Given the description of an element on the screen output the (x, y) to click on. 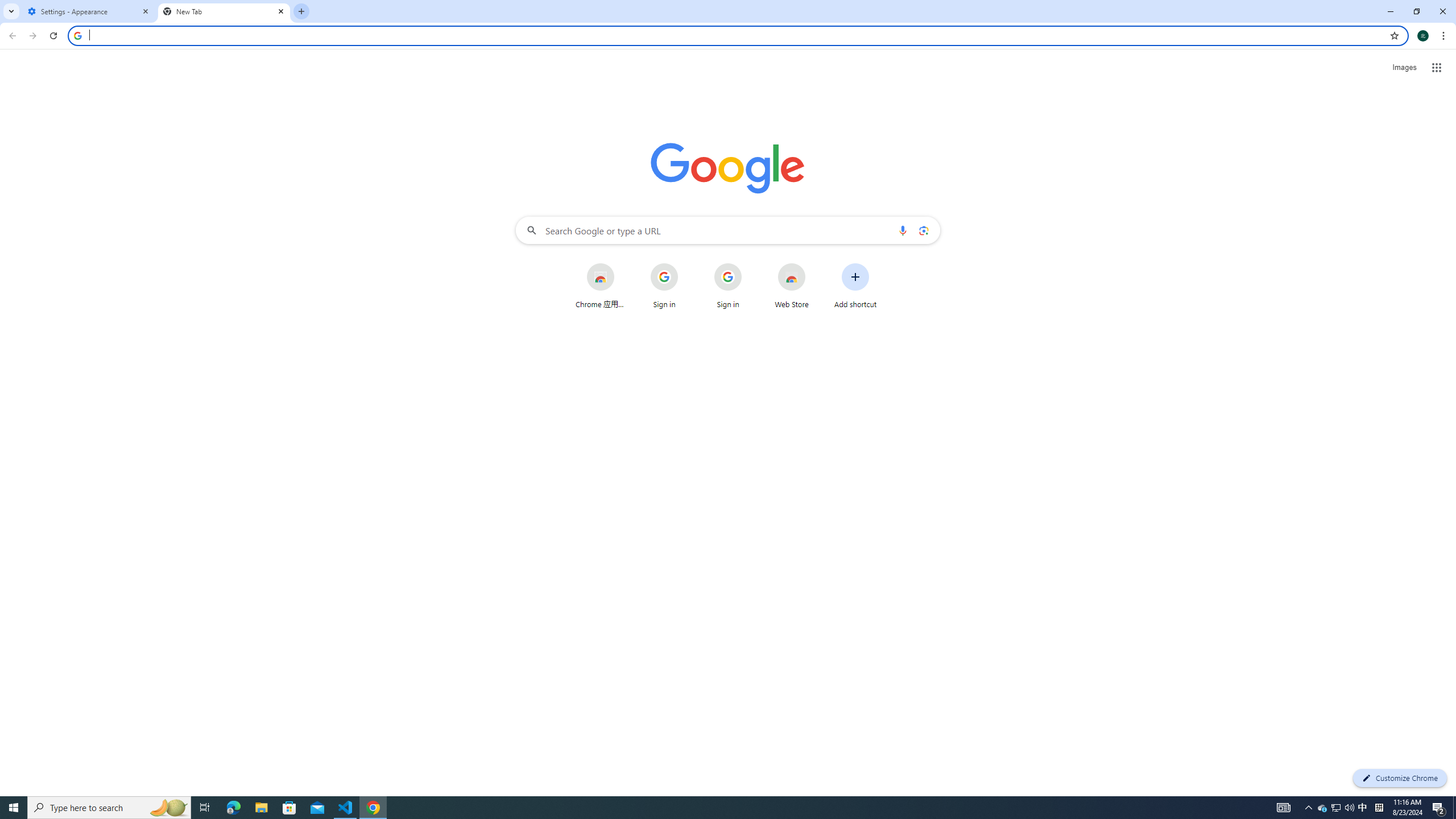
Web Store (792, 285)
More actions for Web Store shortcut (814, 264)
